Given the description of an element on the screen output the (x, y) to click on. 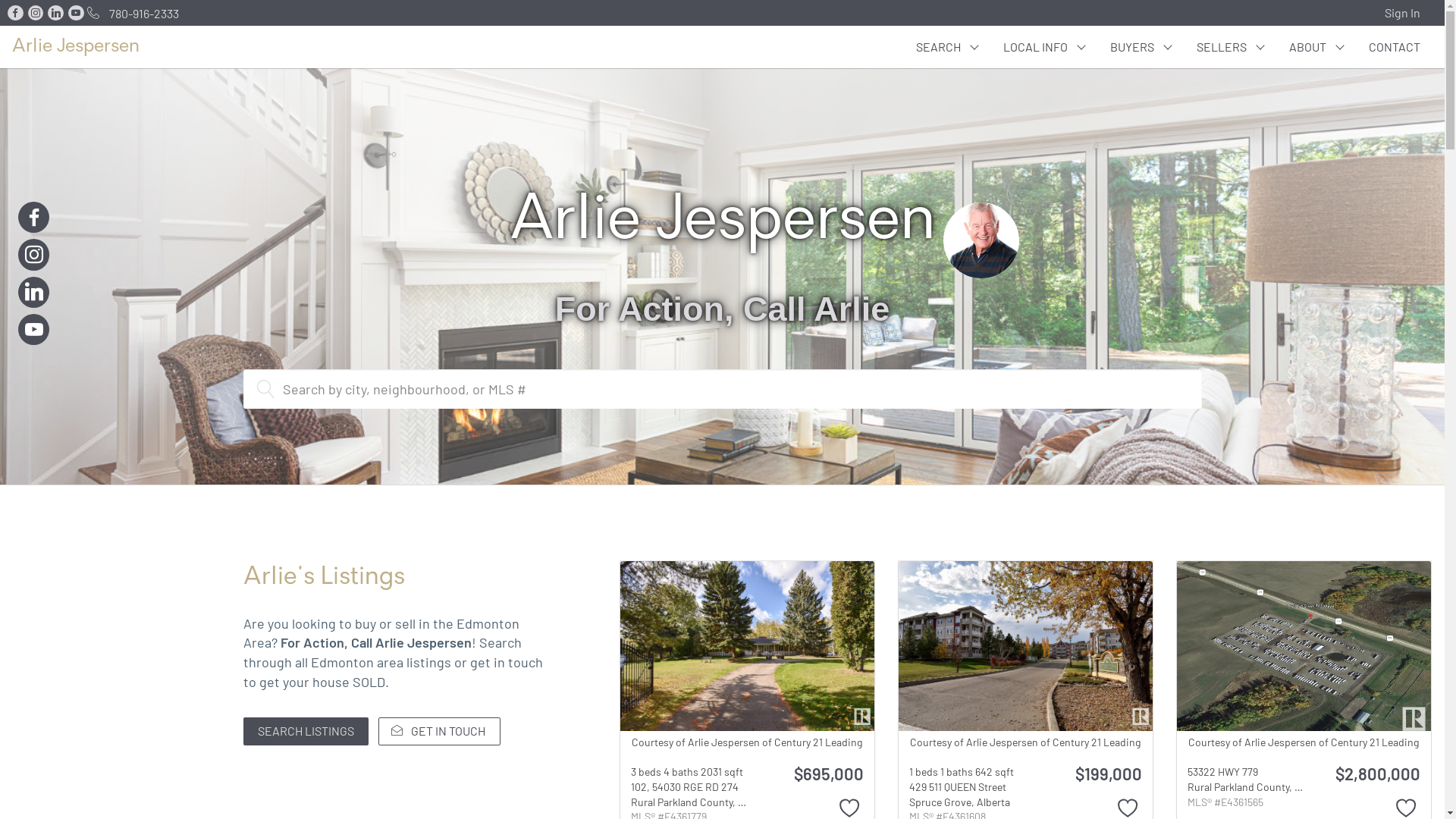
CONTACT Element type: text (1394, 46)
GET IN TOUCH Element type: text (439, 731)
SEARCH LISTINGS Element type: text (304, 731)
780-916-2333 Element type: text (130, 12)
ABOUT Element type: text (1316, 46)
Arlie Jespersen Element type: text (75, 46)
Sign In Element type: text (1406, 12)
